Given the description of an element on the screen output the (x, y) to click on. 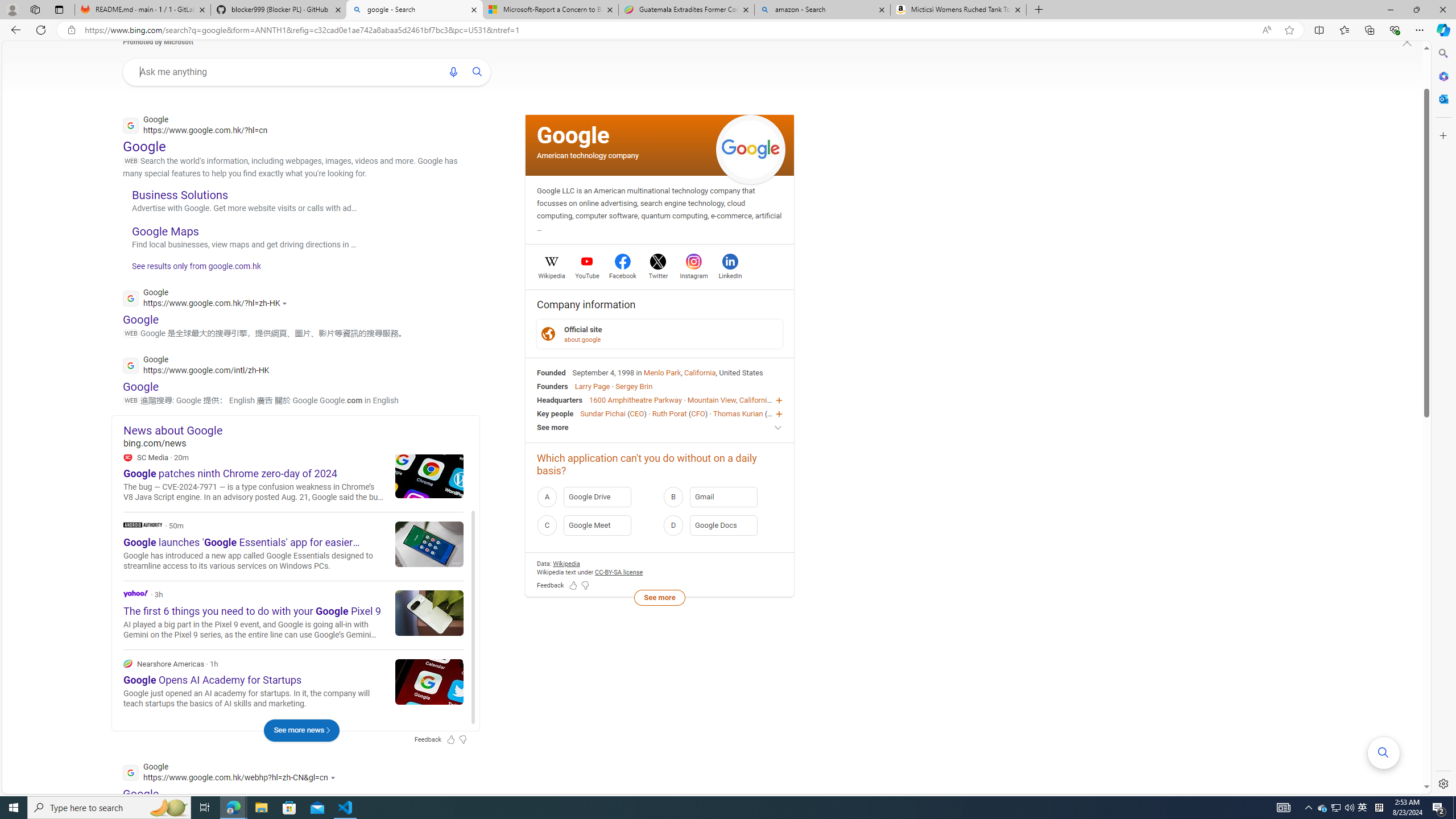
New Tab (1038, 9)
Feedback Like (573, 585)
Facebook (622, 274)
Android Authority (142, 524)
Search more (1383, 753)
See more (660, 427)
Restore (1416, 9)
American technology company (588, 154)
Headquarters (559, 399)
Settings and more (Alt+F) (1419, 29)
Google Opens AI Academy for Startups (428, 681)
